Given the description of an element on the screen output the (x, y) to click on. 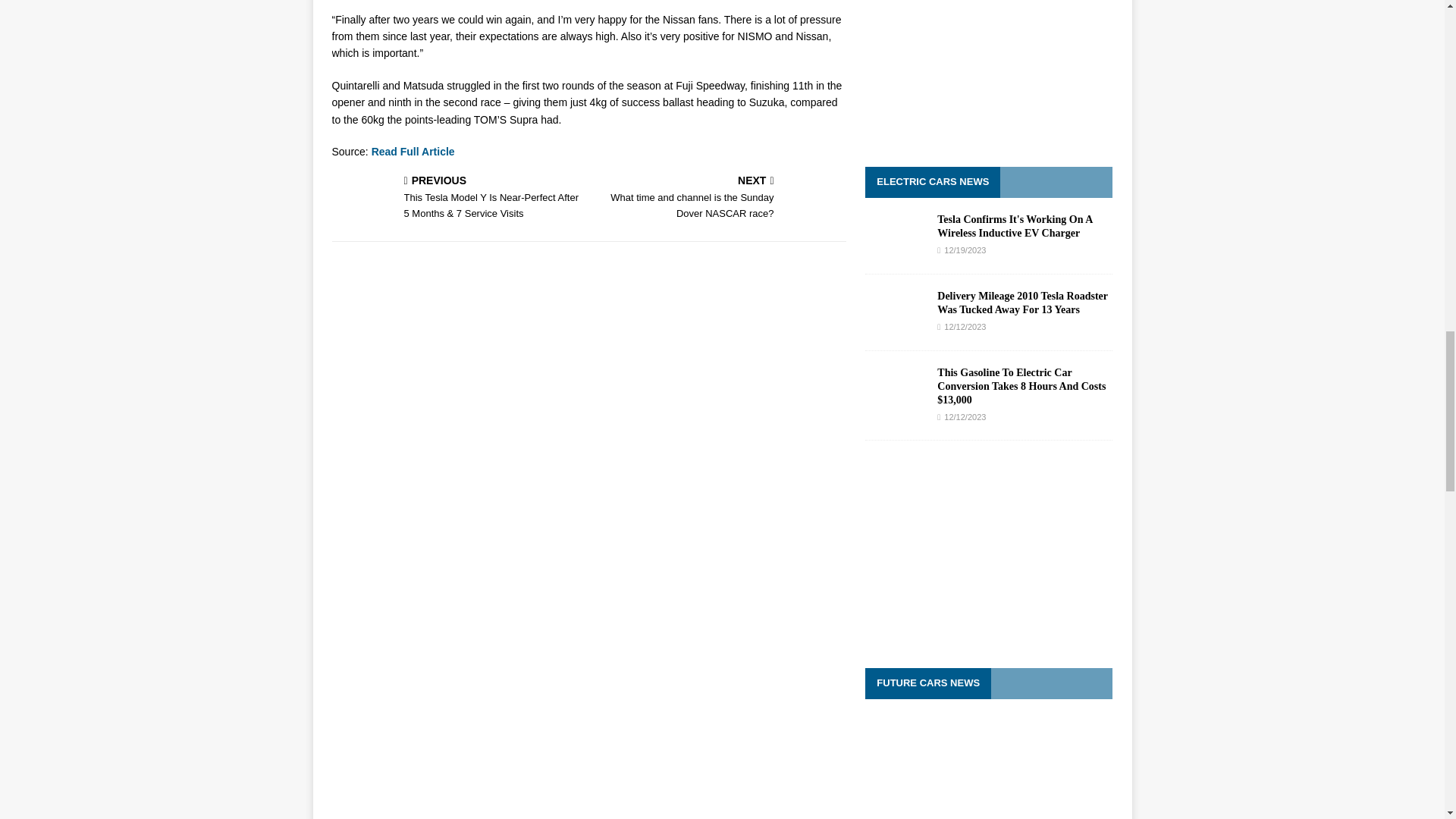
Advertisement (988, 70)
Read Full Article (720, 198)
